Given the description of an element on the screen output the (x, y) to click on. 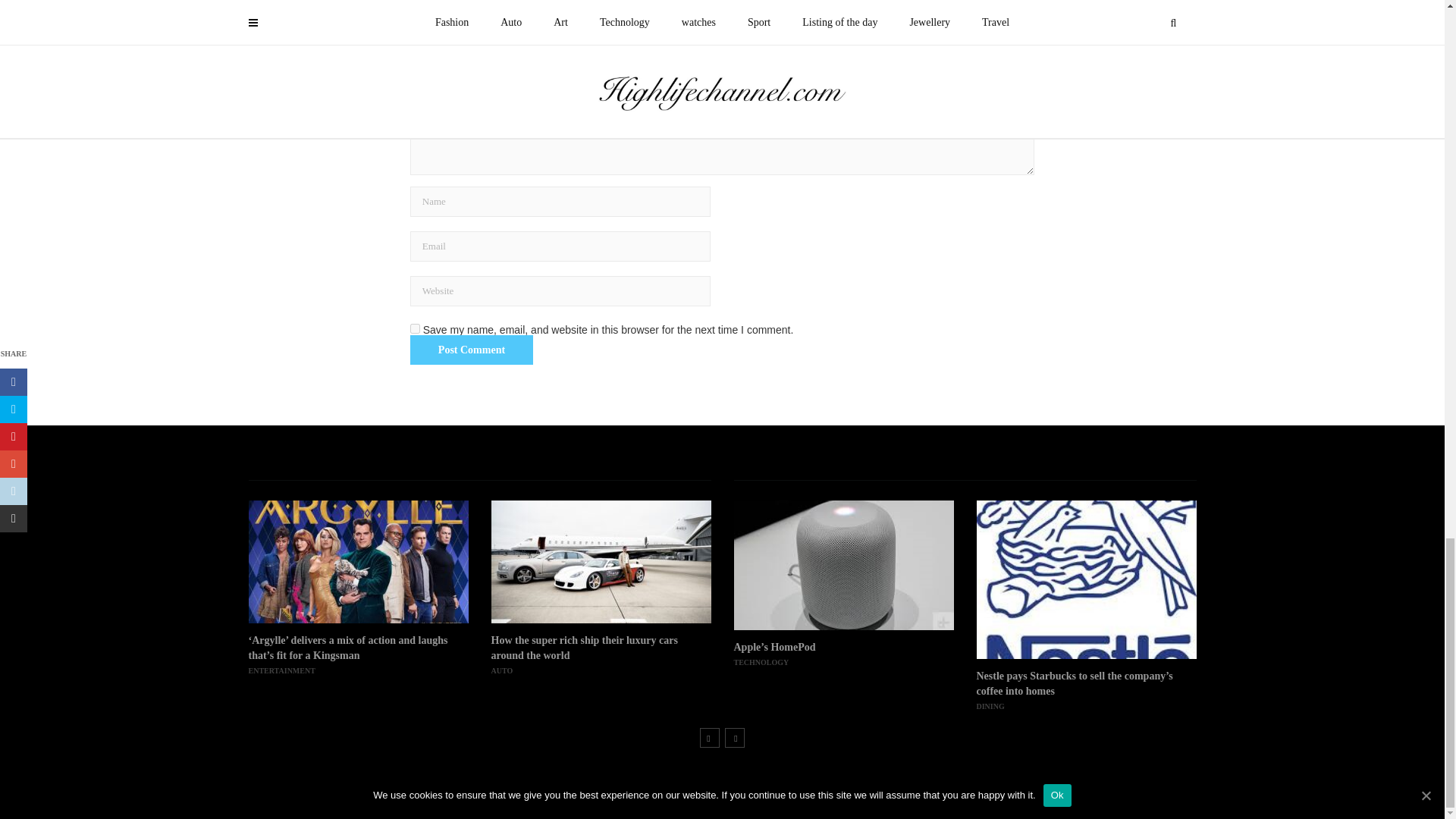
Post Comment (471, 349)
yes (415, 328)
